Given the description of an element on the screen output the (x, y) to click on. 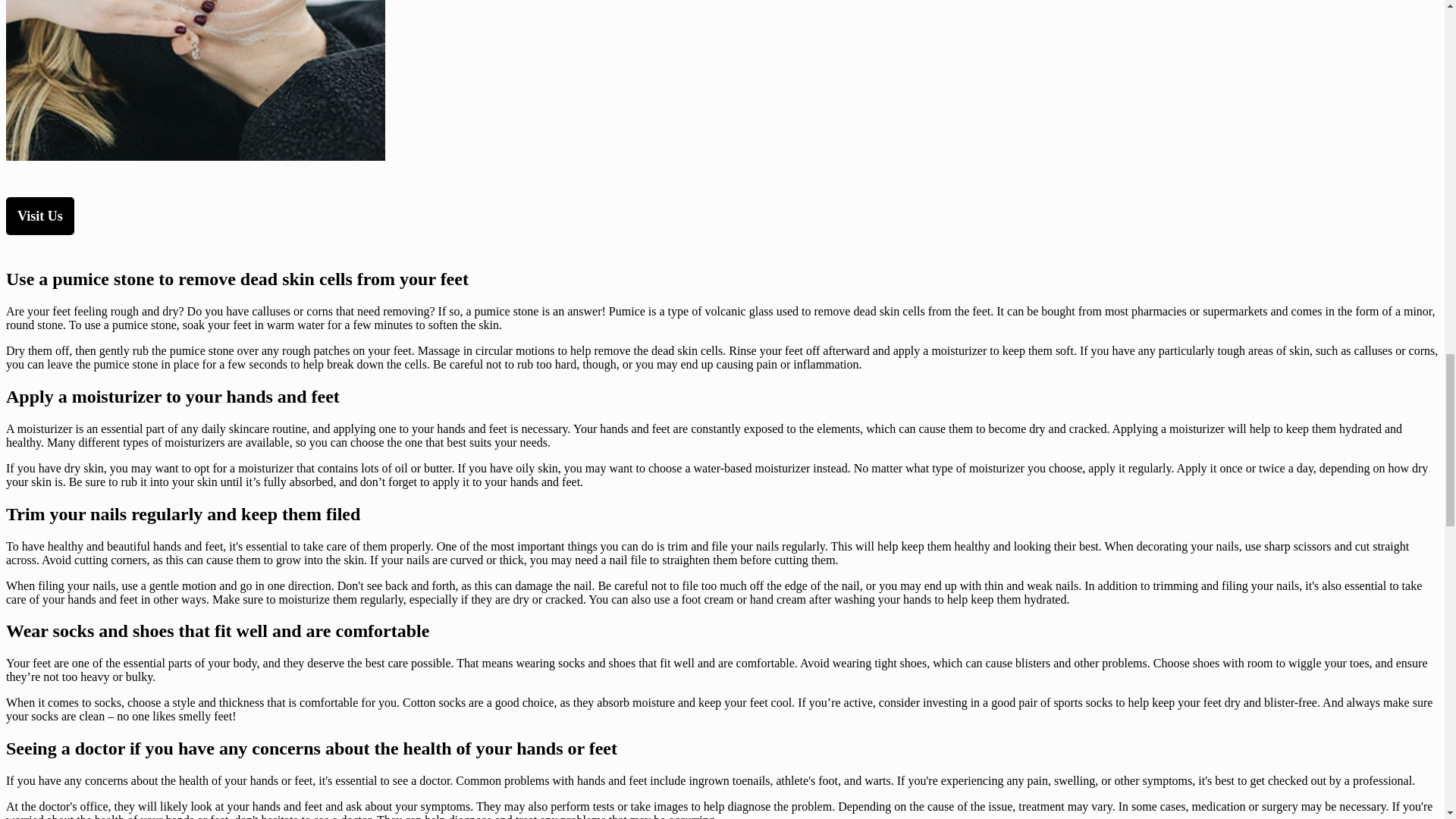
Visit Us (39, 216)
